Given the description of an element on the screen output the (x, y) to click on. 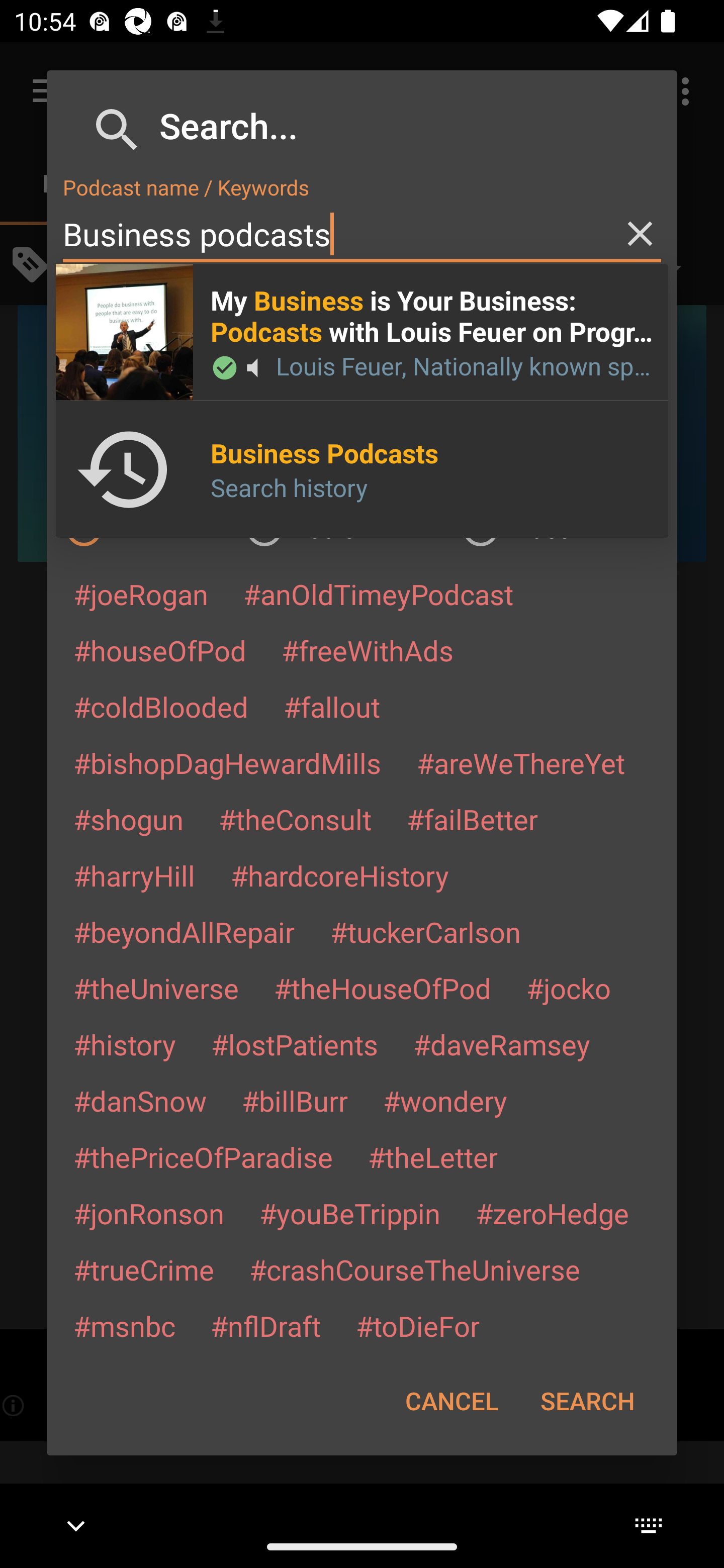
Business podcasts (361, 234)
#joeRogan (140, 594)
#anOldTimeyPodcast (378, 594)
#houseOfPod (159, 650)
#freeWithAds (367, 650)
#coldBlooded (160, 705)
#fallout (331, 705)
#bishopDagHewardMills (227, 762)
#areWeThereYet (521, 762)
#shogun (128, 818)
#theConsult (294, 818)
#failBetter (471, 818)
#harryHill (134, 875)
#hardcoreHistory (339, 875)
#beyondAllRepair (184, 931)
#tuckerCarlson (425, 931)
#theUniverse (155, 987)
#theHouseOfPod (381, 987)
#jocko (568, 987)
#history (124, 1044)
#lostPatients (294, 1044)
#daveRamsey (501, 1044)
#danSnow (139, 1100)
#billBurr (294, 1100)
#wondery (444, 1100)
#thePriceOfParadise (203, 1157)
#theLetter (432, 1157)
#jonRonson (148, 1213)
#youBeTrippin (349, 1213)
#zeroHedge (552, 1213)
#trueCrime (143, 1268)
#crashCourseTheUniverse (414, 1268)
#msnbc (124, 1325)
#nflDraft (265, 1325)
#toDieFor (417, 1325)
CANCEL (451, 1400)
SEARCH (587, 1400)
